Given the description of an element on the screen output the (x, y) to click on. 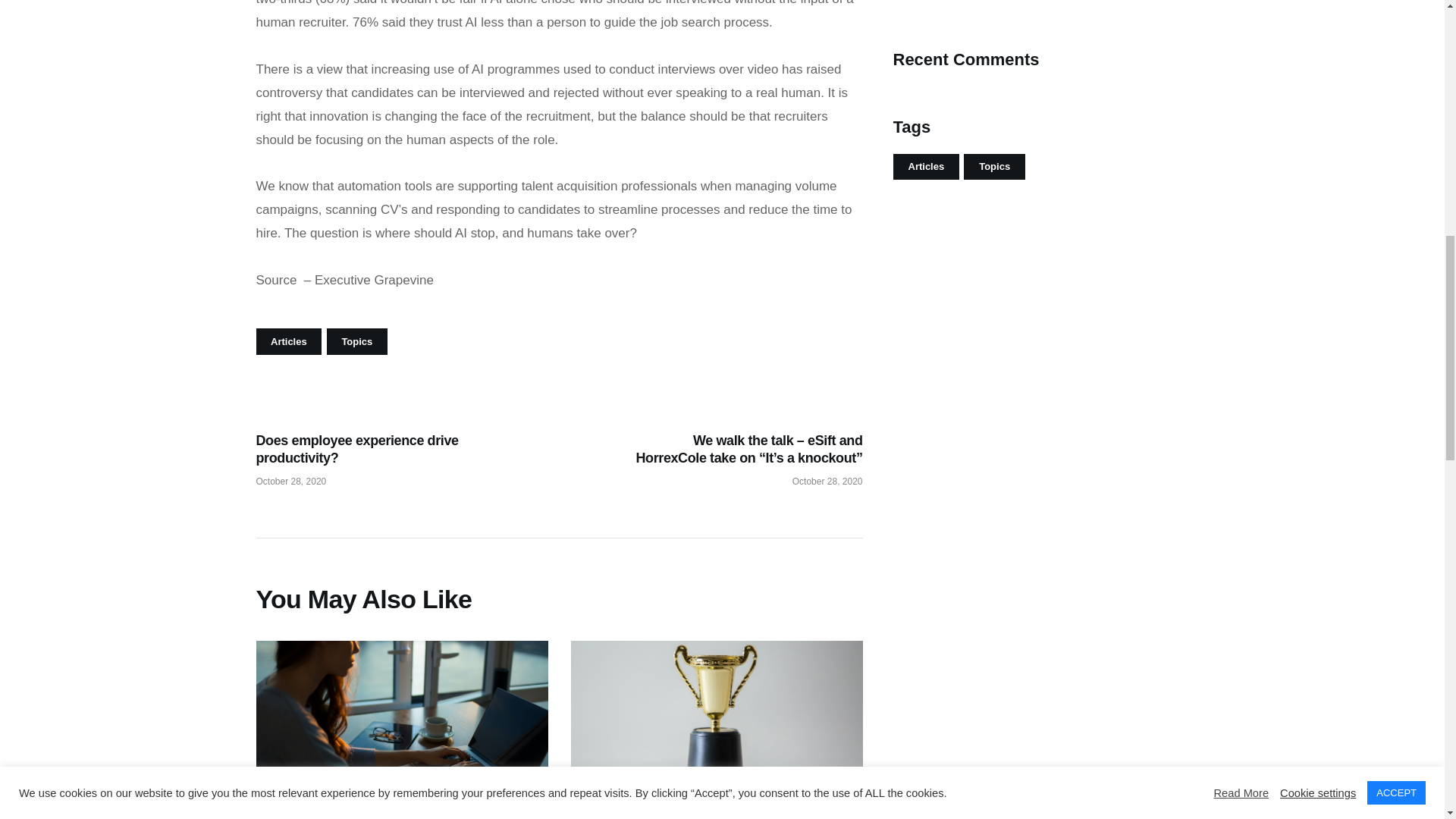
Topics (356, 341)
Articles (288, 341)
